Given the description of an element on the screen output the (x, y) to click on. 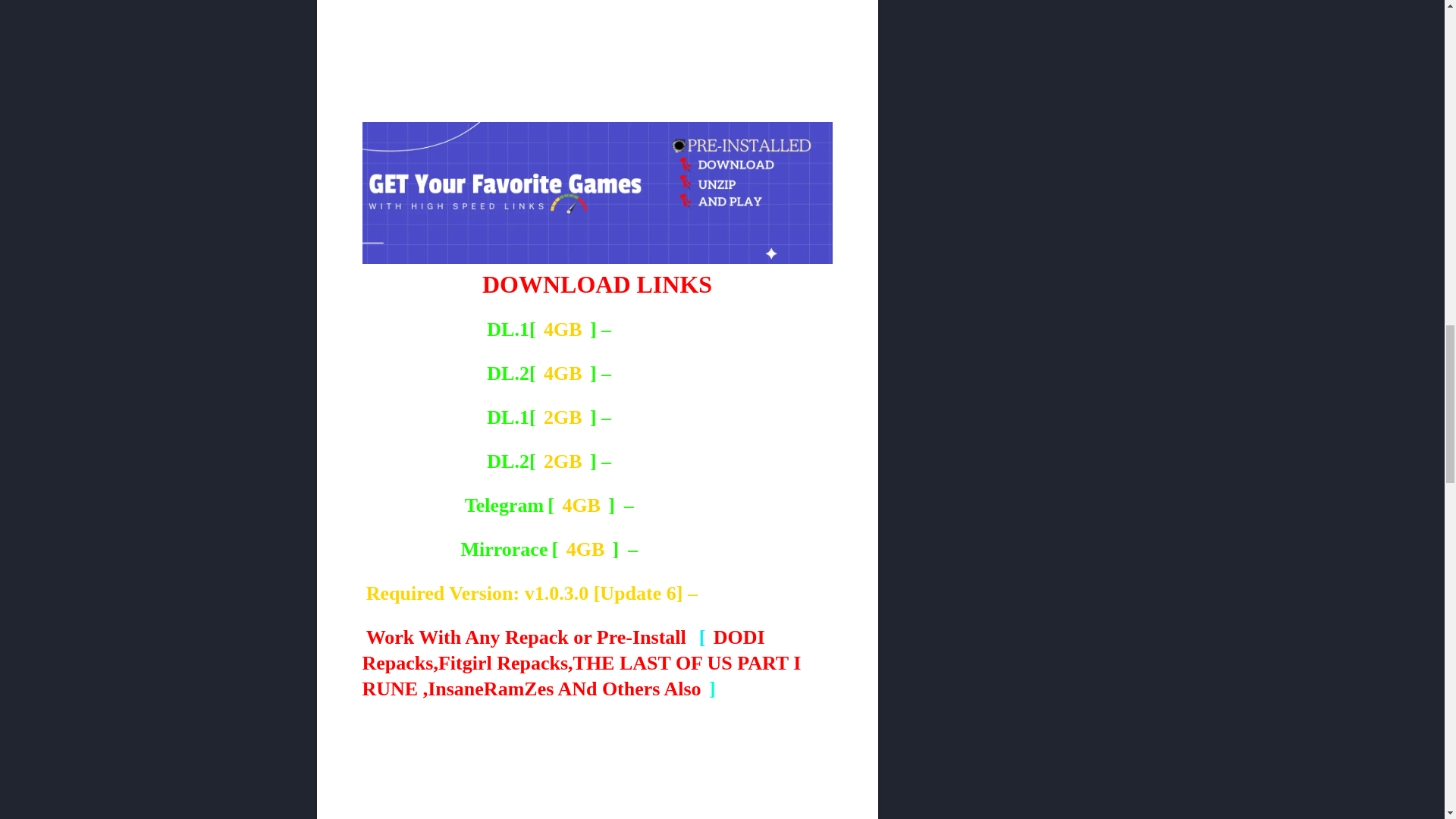
Click Here (661, 417)
Click Here (665, 329)
Click Here (661, 373)
DOWNLOAD LINKS (597, 284)
